Given the description of an element on the screen output the (x, y) to click on. 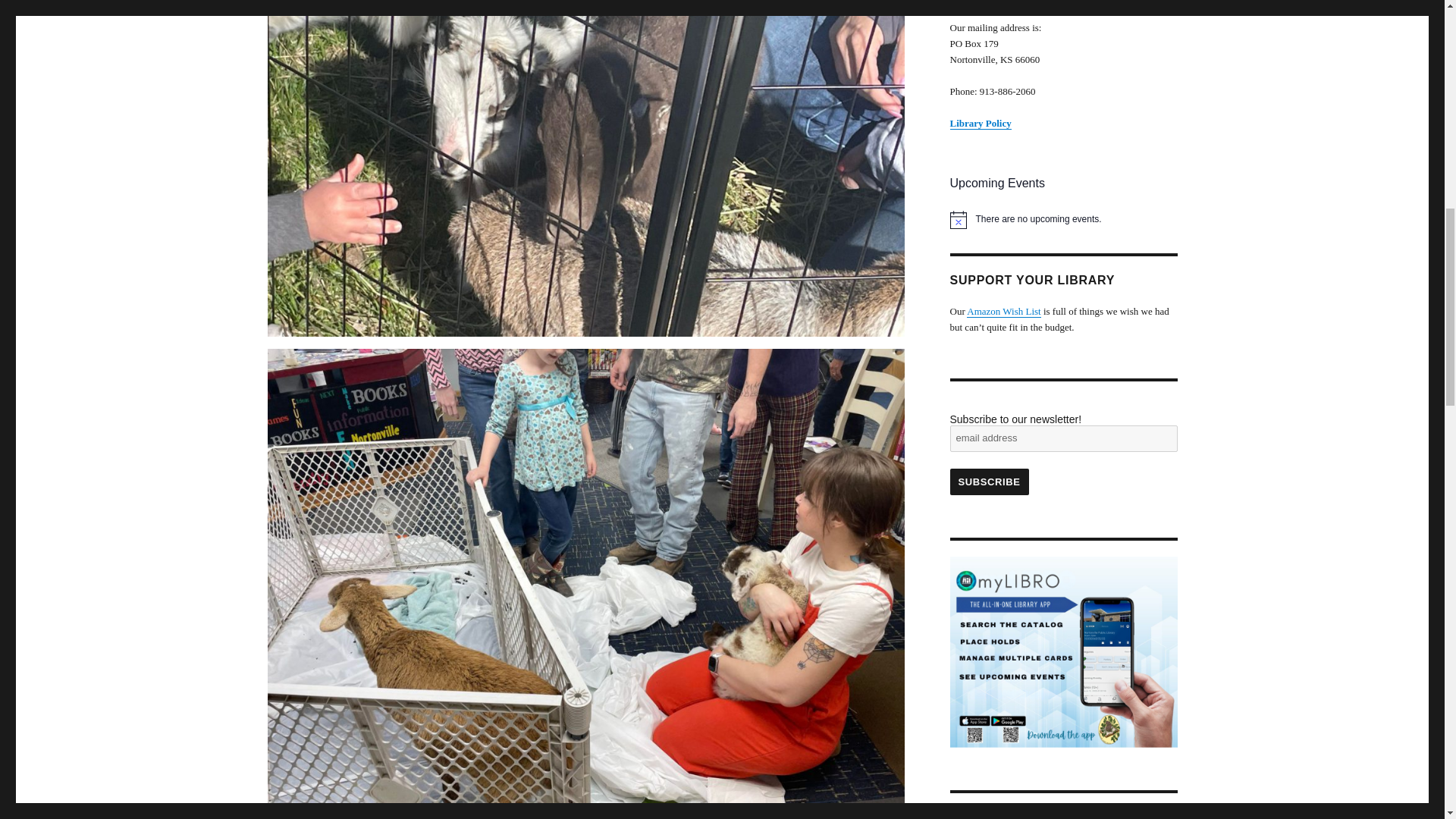
Amazon Wish List (1003, 310)
Subscribe (988, 481)
Subscribe (988, 481)
Library Policy (979, 122)
